Given the description of an element on the screen output the (x, y) to click on. 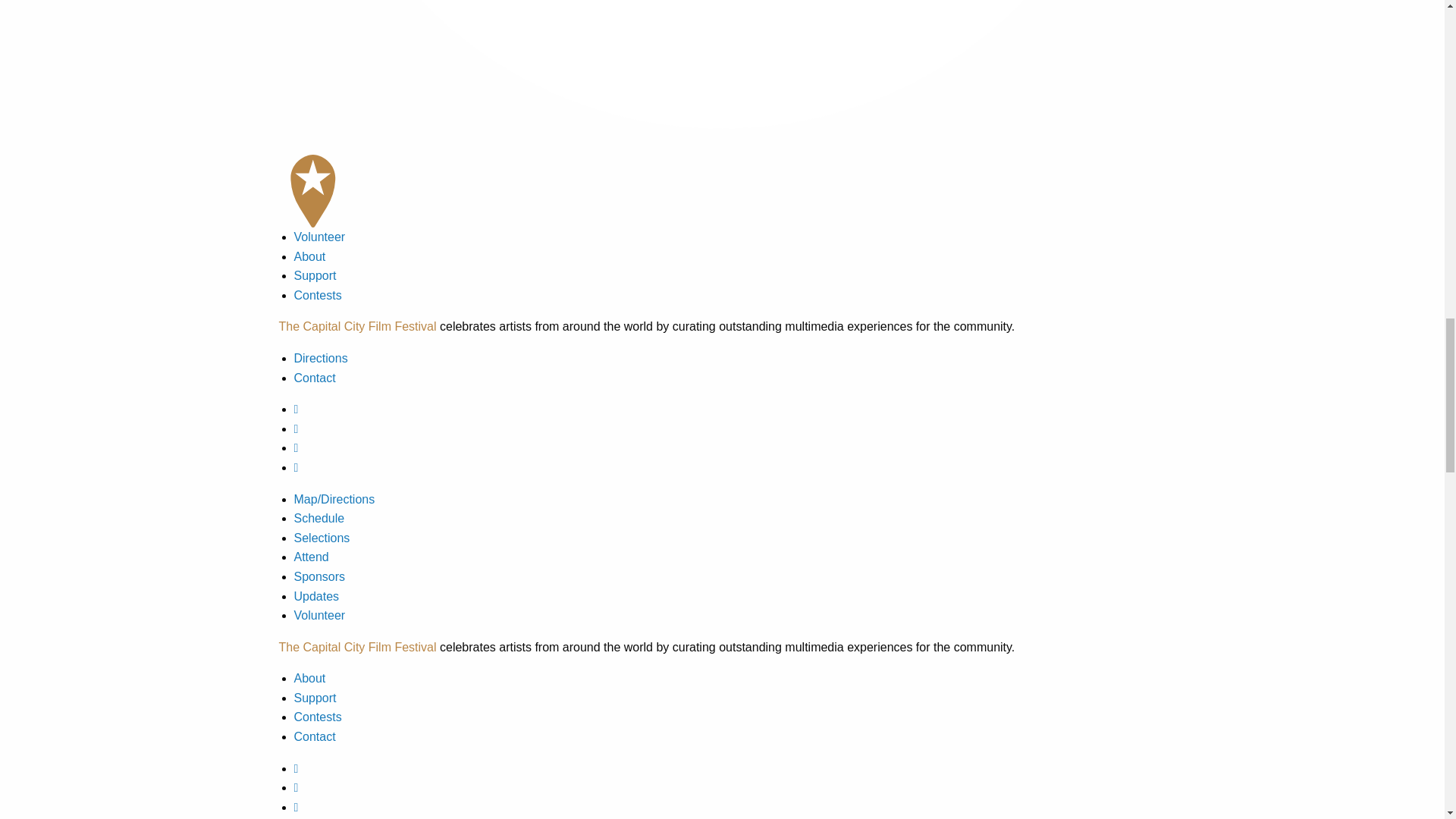
Contact (315, 736)
Contact (315, 377)
Volunteer (320, 615)
About (310, 677)
Directions (320, 358)
Schedule (319, 517)
Support (315, 697)
Selections (322, 537)
About (310, 256)
Contests (318, 716)
Sponsors (320, 576)
Attend (311, 556)
Contests (318, 295)
Support (315, 275)
Volunteer (320, 236)
